Given the description of an element on the screen output the (x, y) to click on. 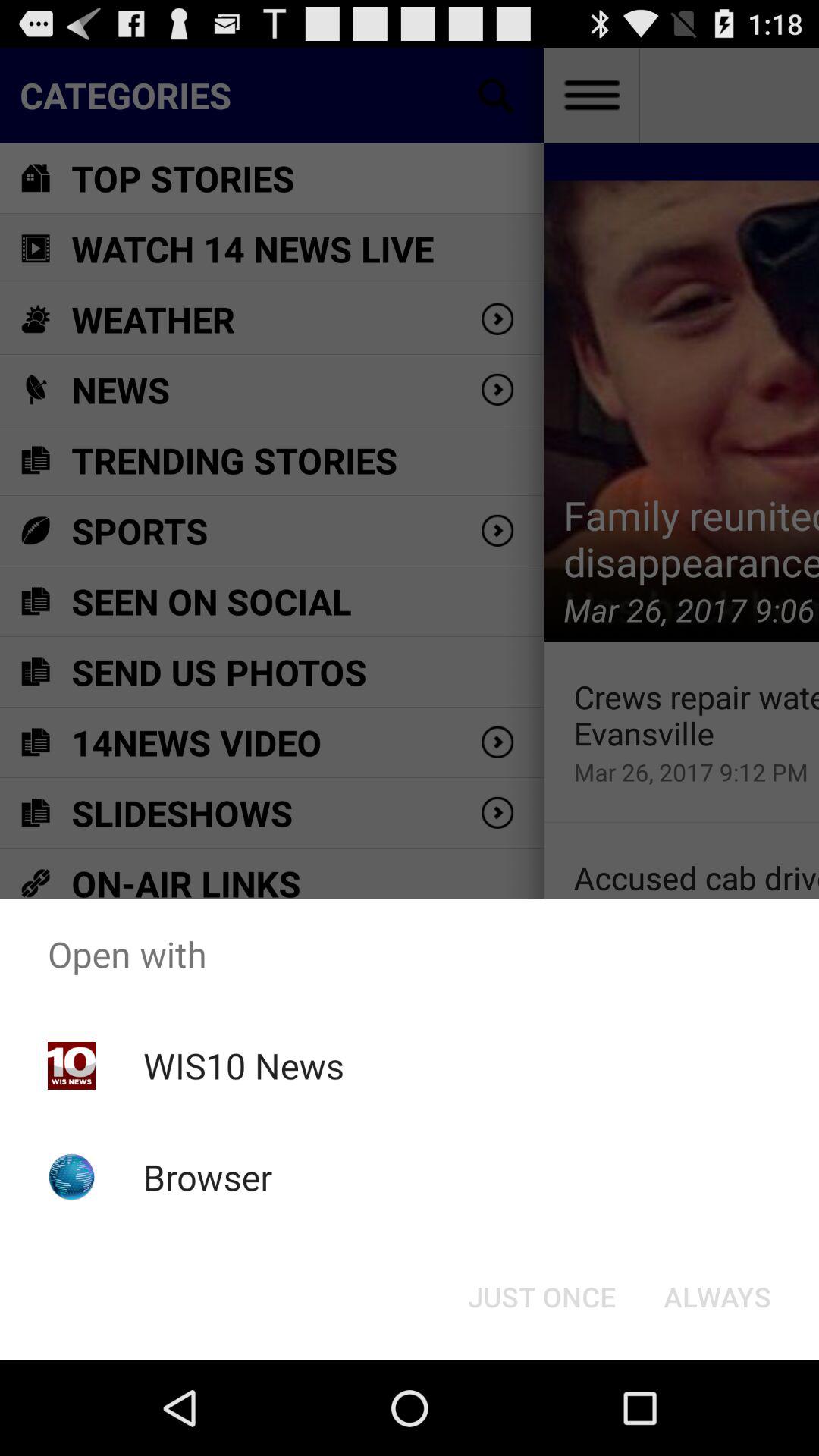
launch button next to always button (541, 1296)
